Given the description of an element on the screen output the (x, y) to click on. 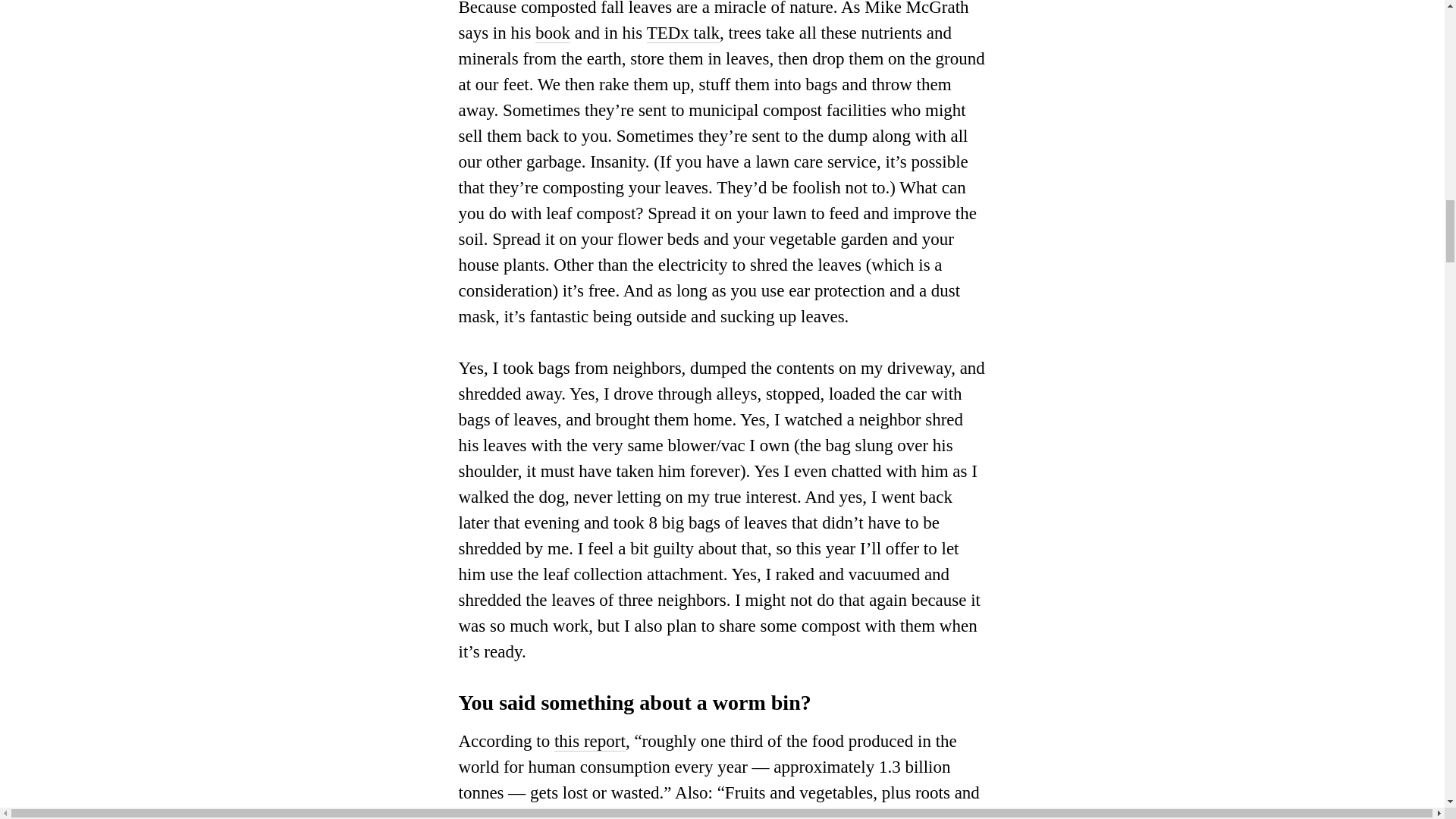
book (552, 33)
this report (590, 741)
TEDx talk (682, 33)
